Given the description of an element on the screen output the (x, y) to click on. 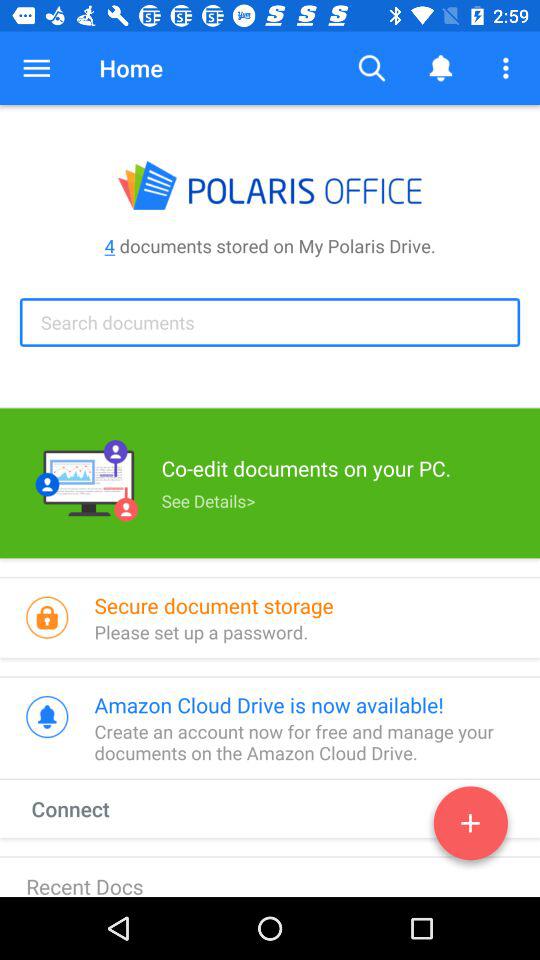
new document (470, 827)
